Given the description of an element on the screen output the (x, y) to click on. 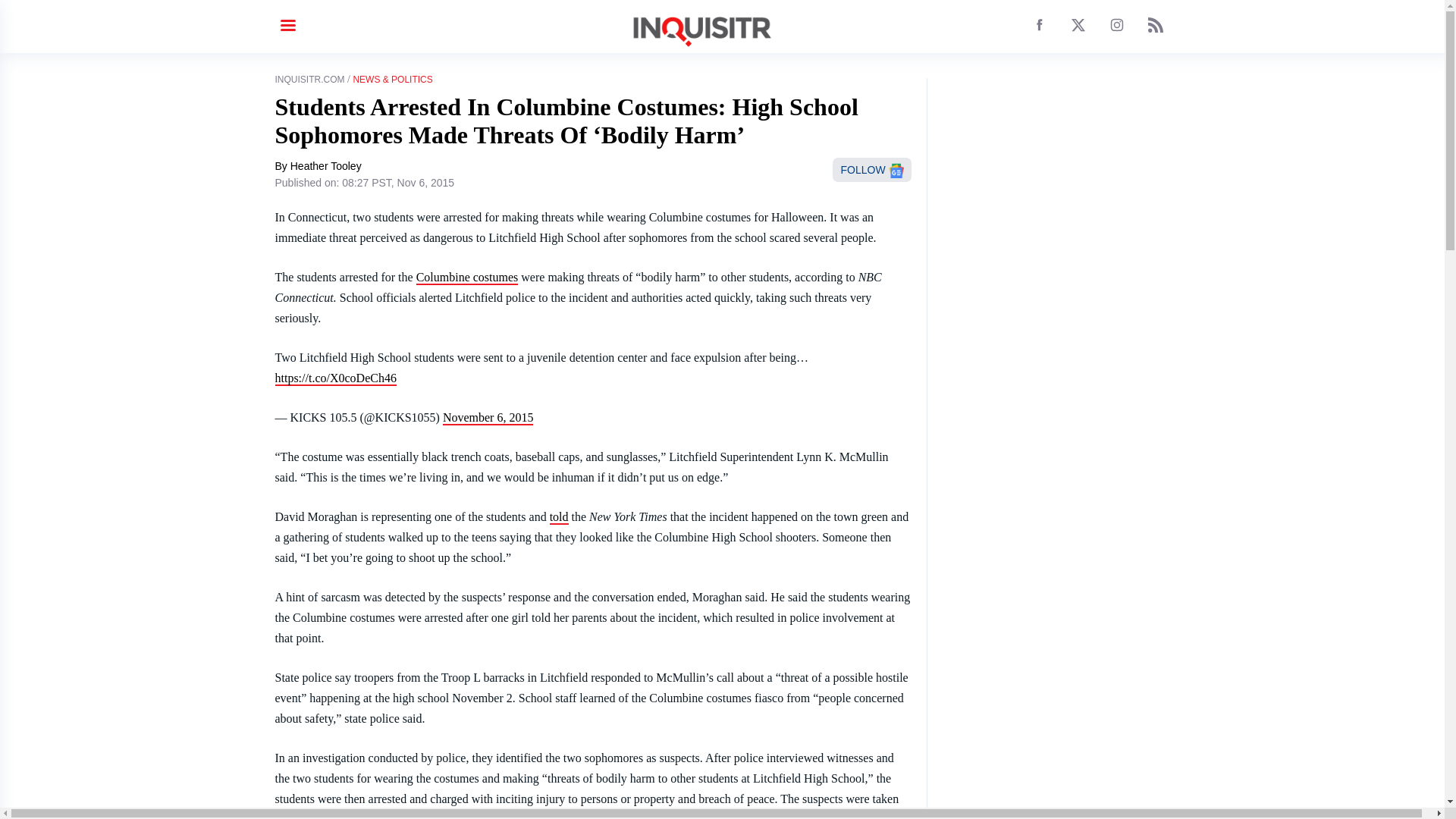
INQUISITR.COM (309, 79)
